Given the description of an element on the screen output the (x, y) to click on. 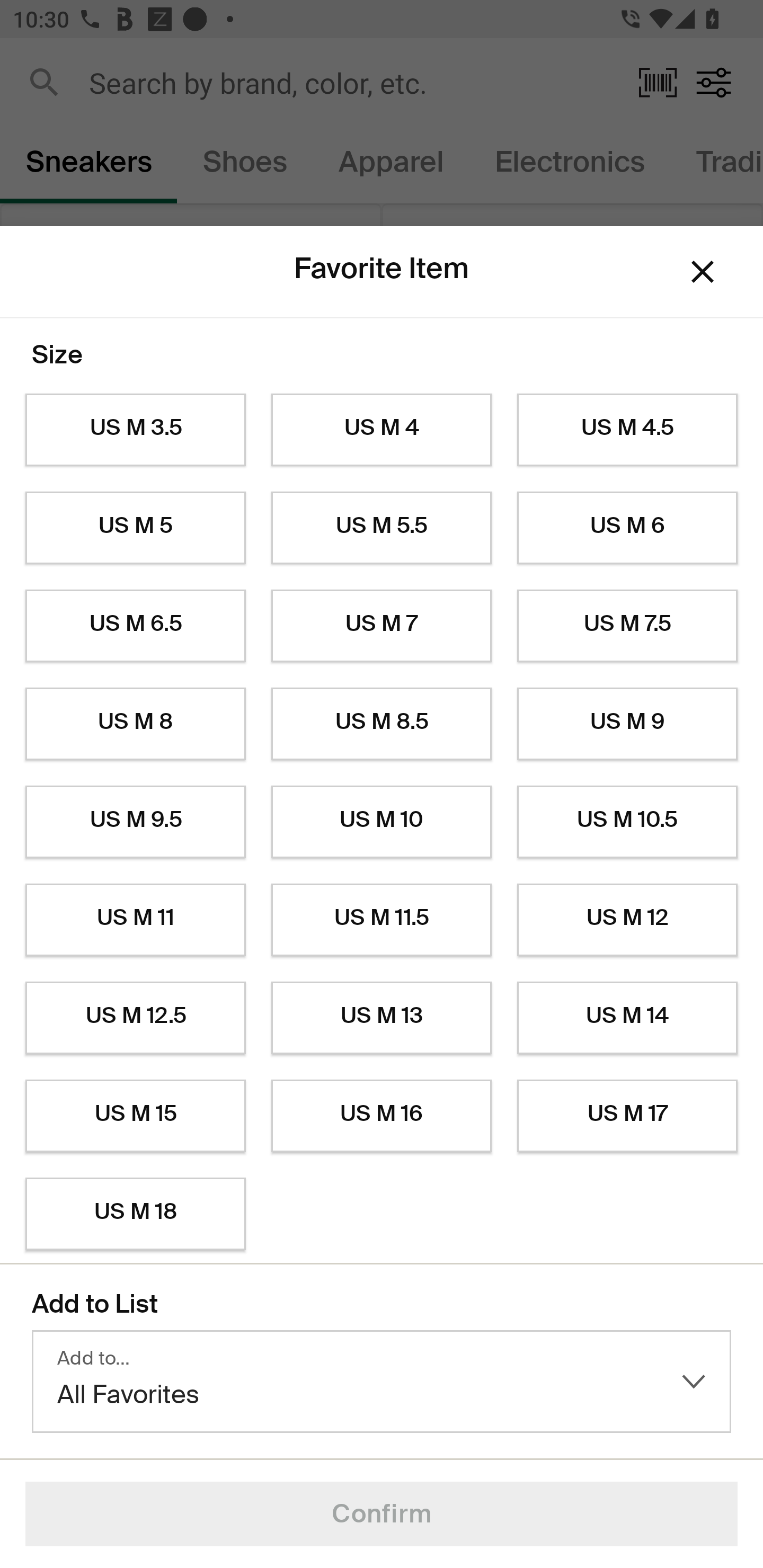
Dismiss (702, 271)
US M 3.5 (135, 430)
US M 4 (381, 430)
US M 4.5 (627, 430)
US M 5 (135, 527)
US M 5.5 (381, 527)
US M 6 (627, 527)
US M 6.5 (135, 626)
US M 7 (381, 626)
US M 7.5 (627, 626)
US M 8 (135, 724)
US M 8.5 (381, 724)
US M 9 (627, 724)
US M 9.5 (135, 822)
US M 10 (381, 822)
US M 10.5 (627, 822)
US M 11 (135, 919)
US M 11.5 (381, 919)
US M 12 (627, 919)
US M 12.5 (135, 1018)
US M 13 (381, 1018)
US M 14 (627, 1018)
US M 15 (135, 1116)
US M 16 (381, 1116)
US M 17 (627, 1116)
US M 18 (135, 1214)
Add to… All Favorites (381, 1381)
Confirm (381, 1513)
